Given the description of an element on the screen output the (x, y) to click on. 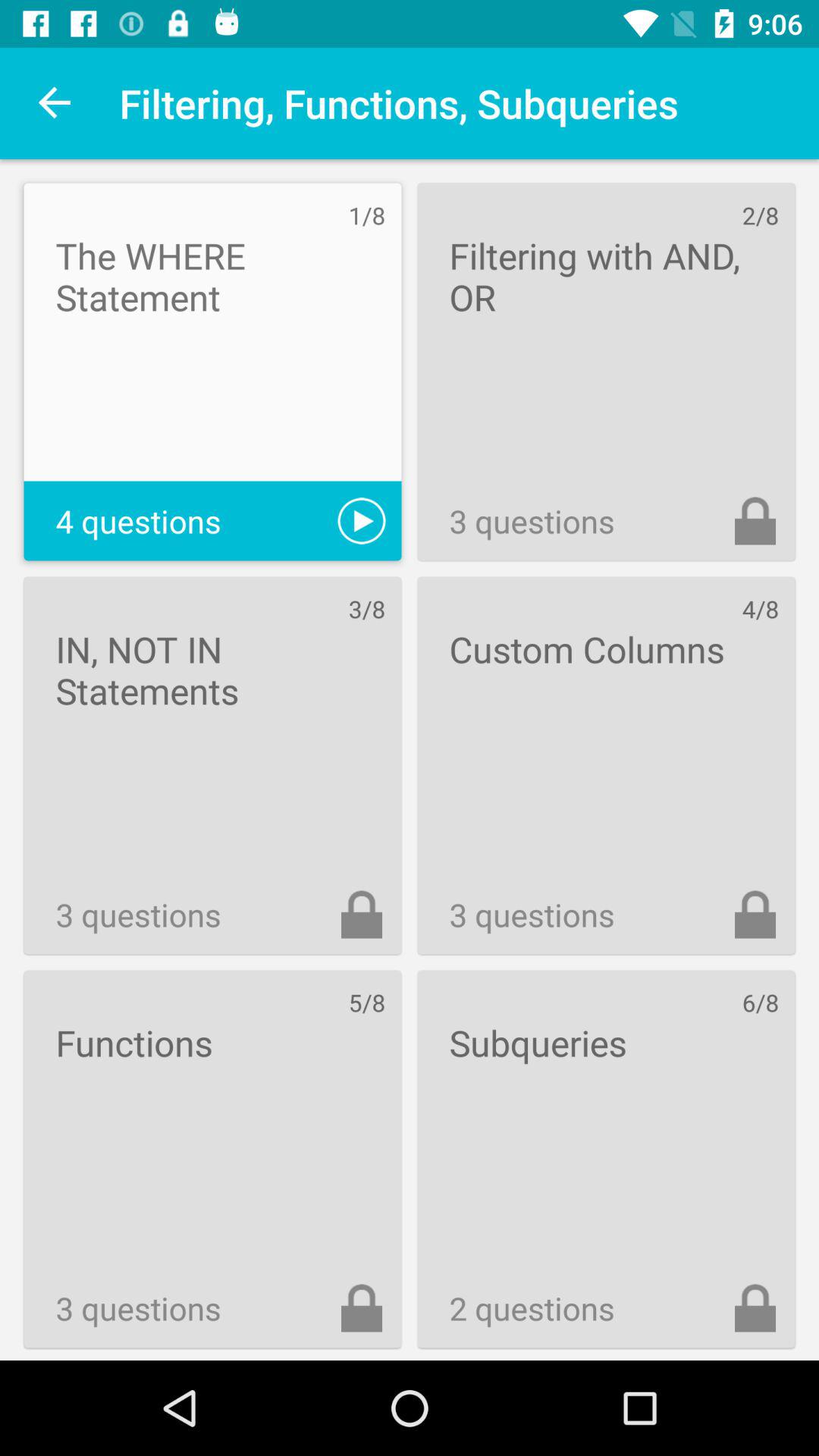
launch icon next to the filtering, functions, subqueries (55, 103)
